Given the description of an element on the screen output the (x, y) to click on. 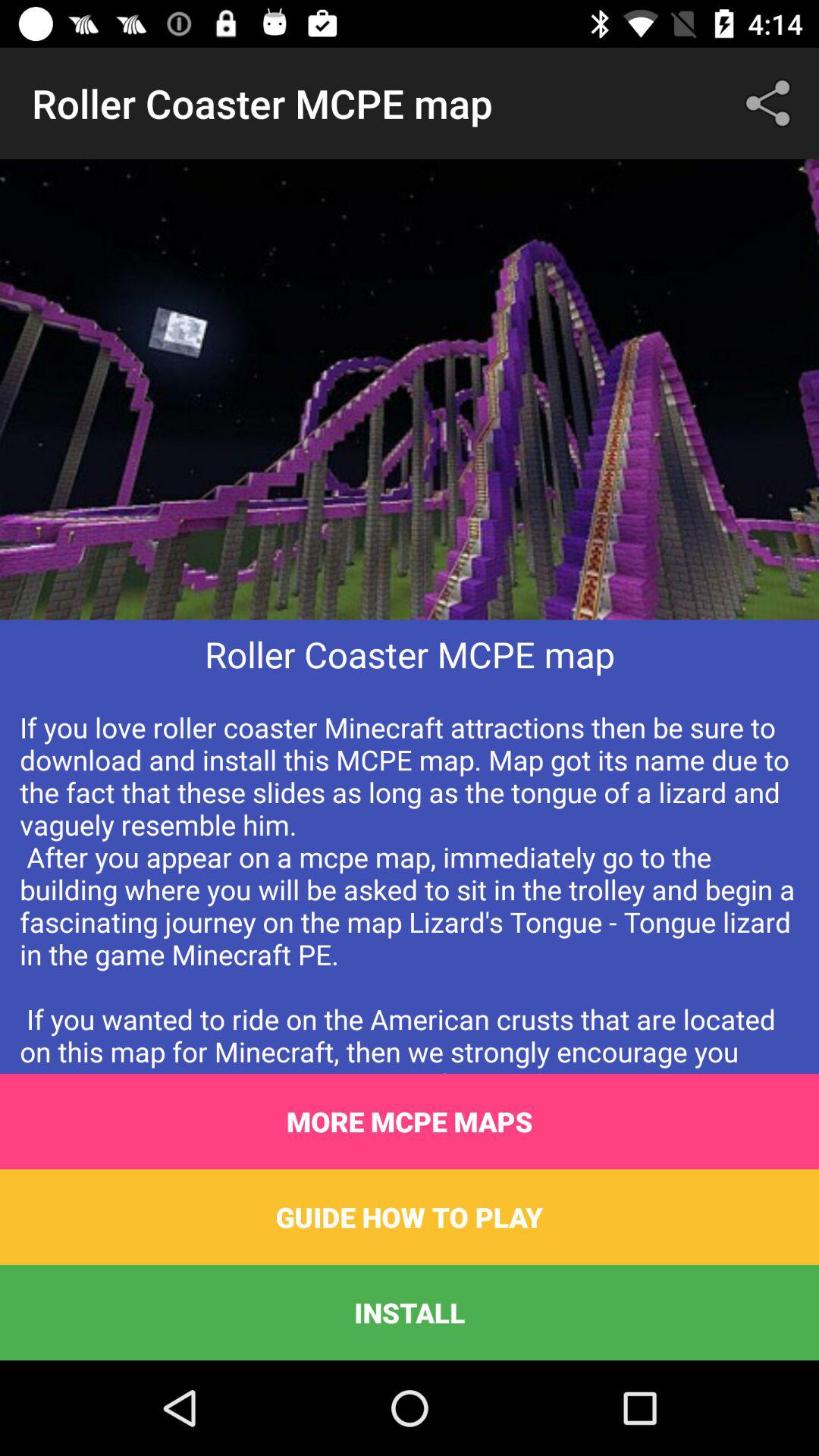
press item below the more mcpe maps item (409, 1216)
